Given the description of an element on the screen output the (x, y) to click on. 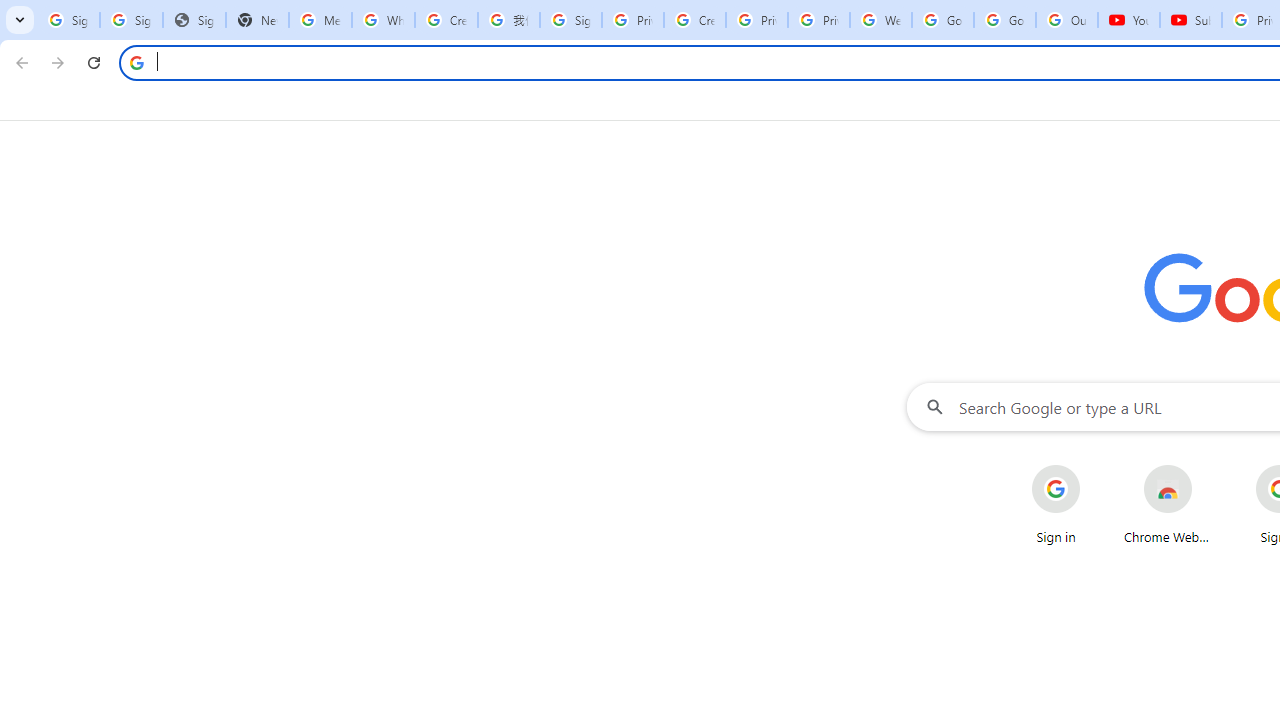
YouTube (1128, 20)
Subscriptions - YouTube (1190, 20)
Create your Google Account (694, 20)
More actions for Sign in shortcut (1095, 466)
Sign in - Google Accounts (570, 20)
More actions for Chrome Web Store shortcut (1208, 466)
Sign In - USA TODAY (194, 20)
Create your Google Account (445, 20)
